Given the description of an element on the screen output the (x, y) to click on. 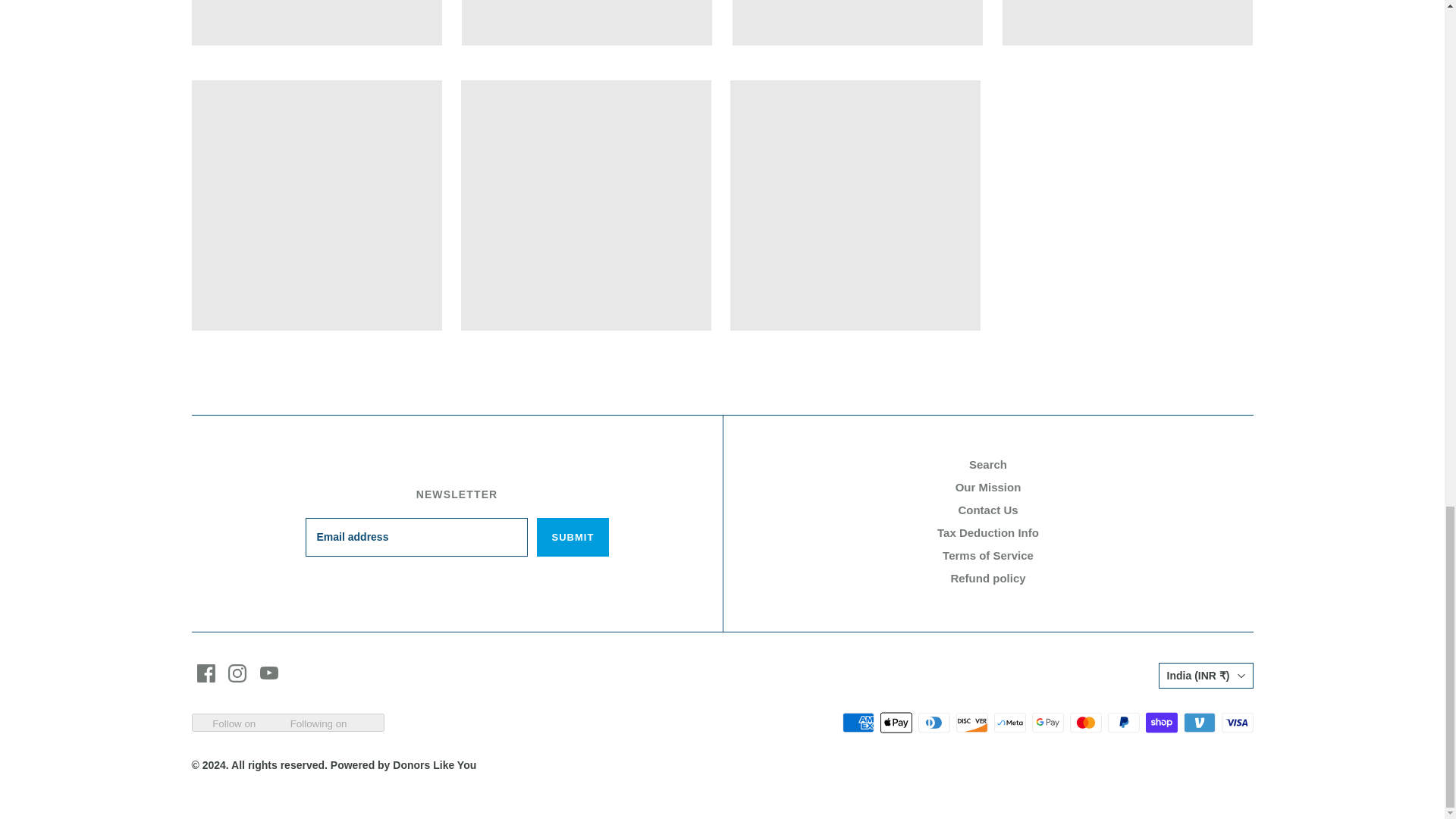
Meta Pay (1008, 722)
Apple Pay (895, 722)
Diners Club (933, 722)
Google Pay (1046, 722)
Discover (971, 722)
American Express (857, 722)
Mastercard (1084, 722)
